Given the description of an element on the screen output the (x, y) to click on. 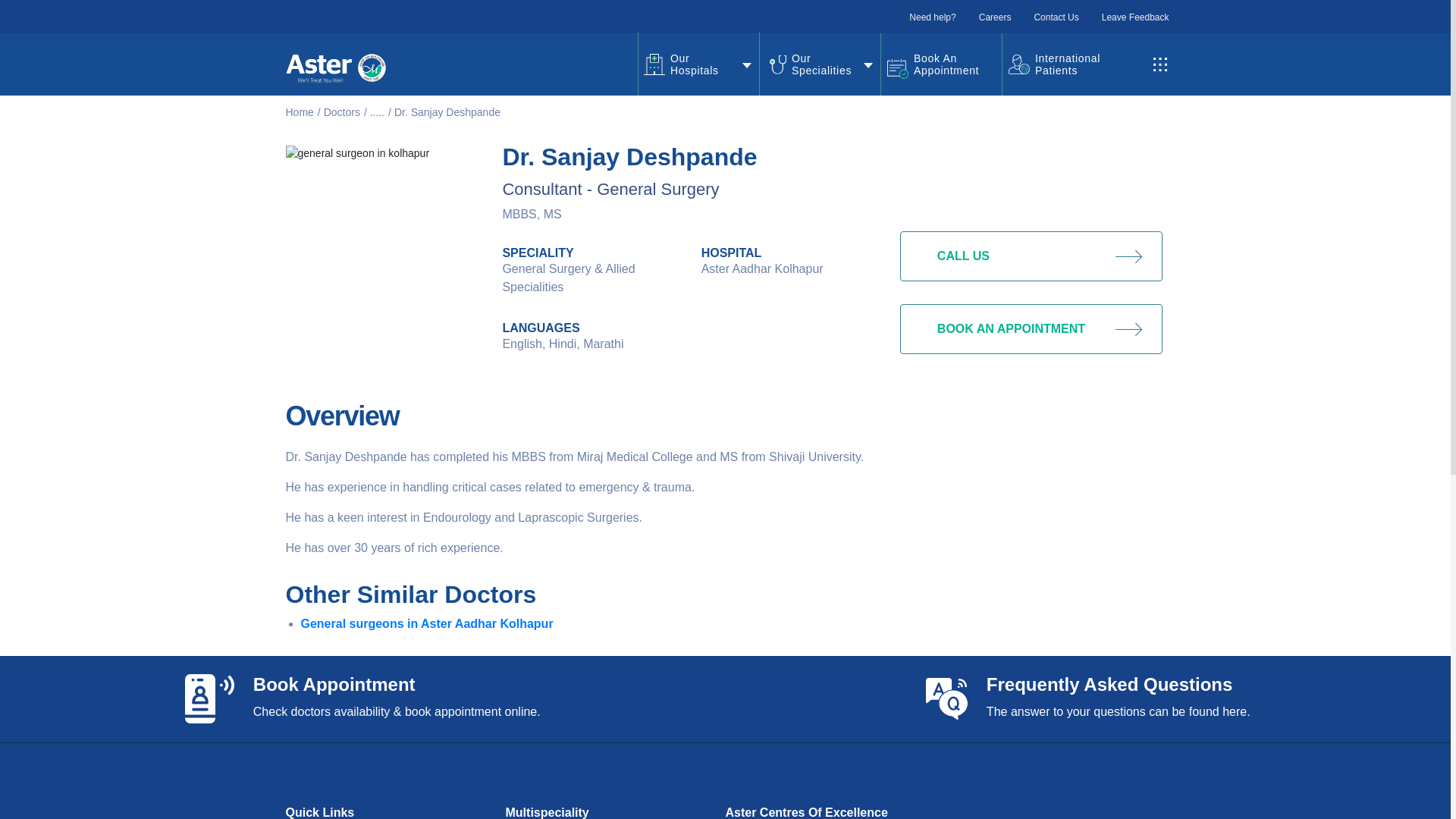
Leave Feedback (1135, 17)
Need help? (931, 17)
Contact Us (1055, 17)
Careers (994, 17)
